Given the description of an element on the screen output the (x, y) to click on. 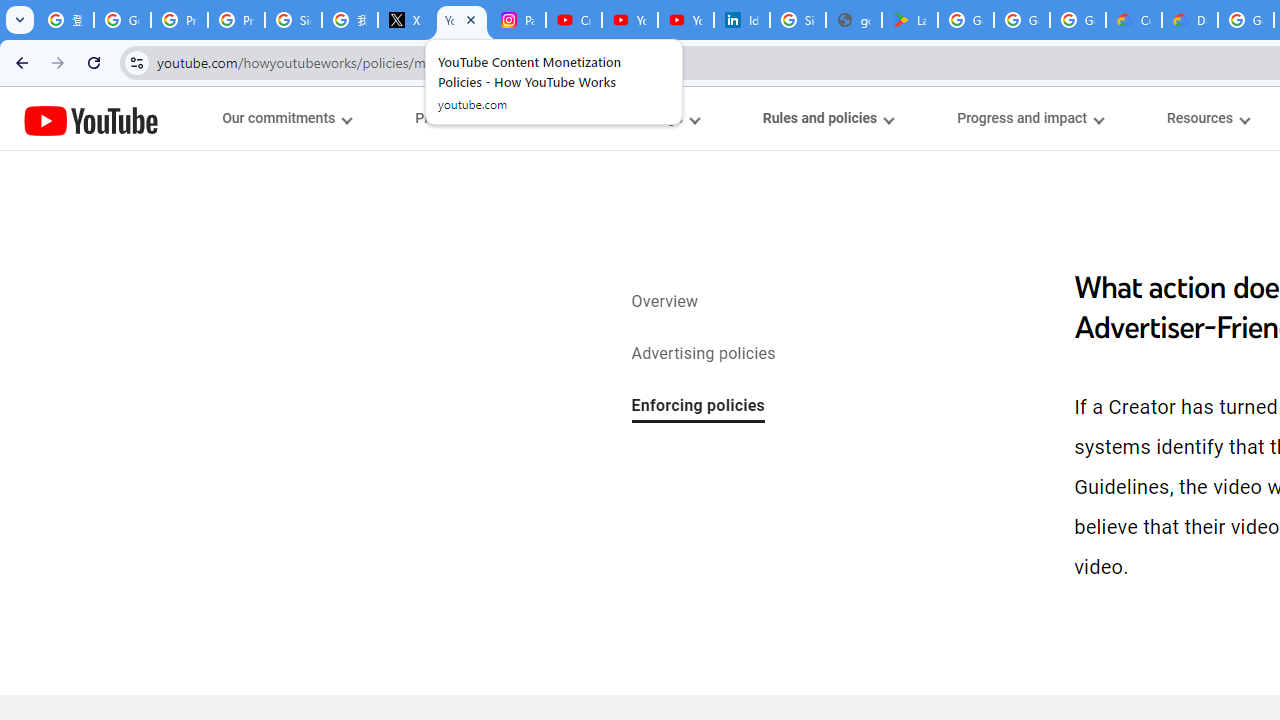
Privacy Help Center - Policies Help (179, 20)
Sign in - Google Accounts (797, 20)
Back (19, 62)
Product features menupopup (475, 118)
Overview (664, 303)
Customer Care | Google Cloud (1133, 20)
YouTube (91, 120)
X (405, 20)
